Given the description of an element on the screen output the (x, y) to click on. 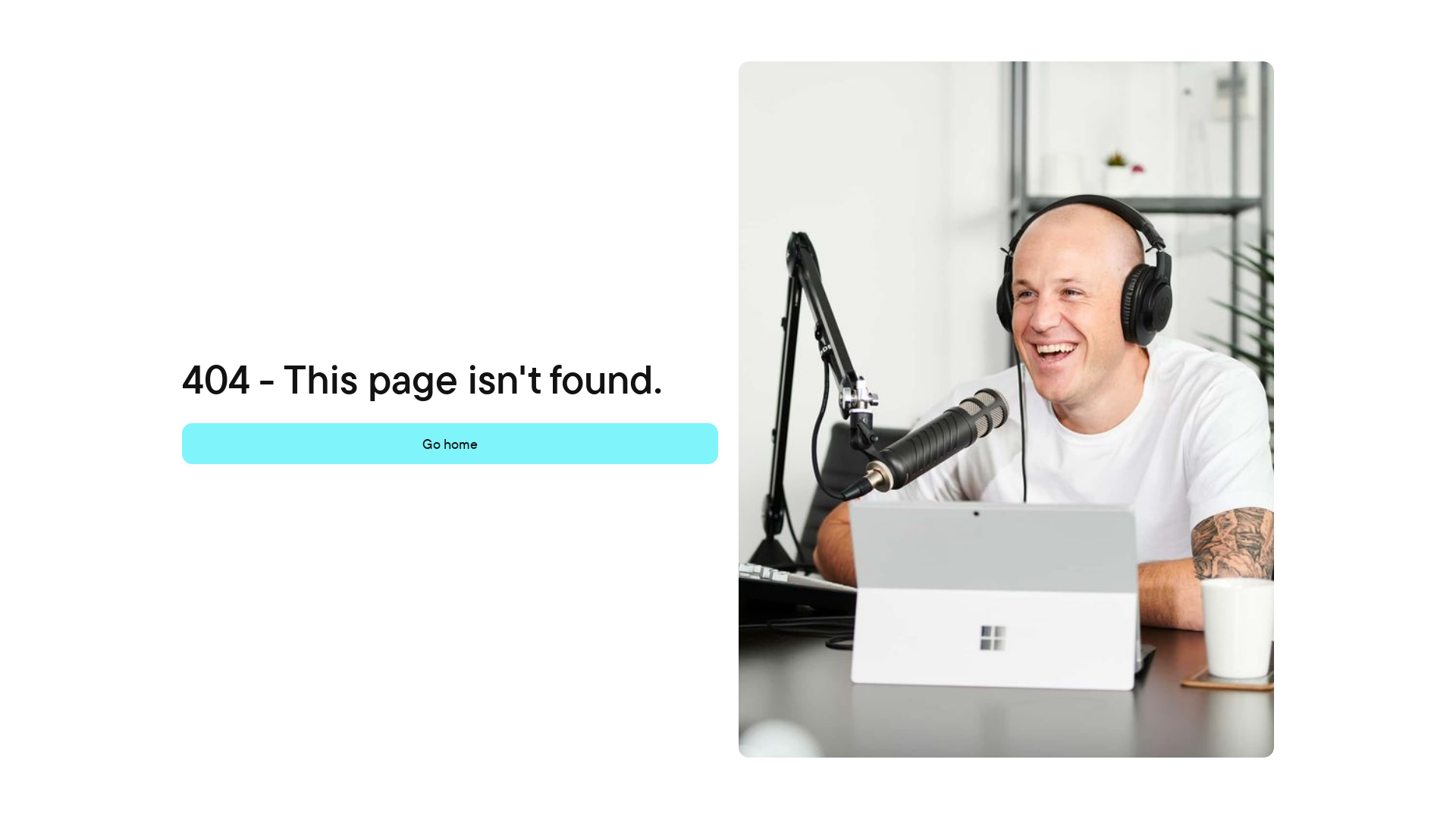
Go home Element type: text (450, 443)
